Given the description of an element on the screen output the (x, y) to click on. 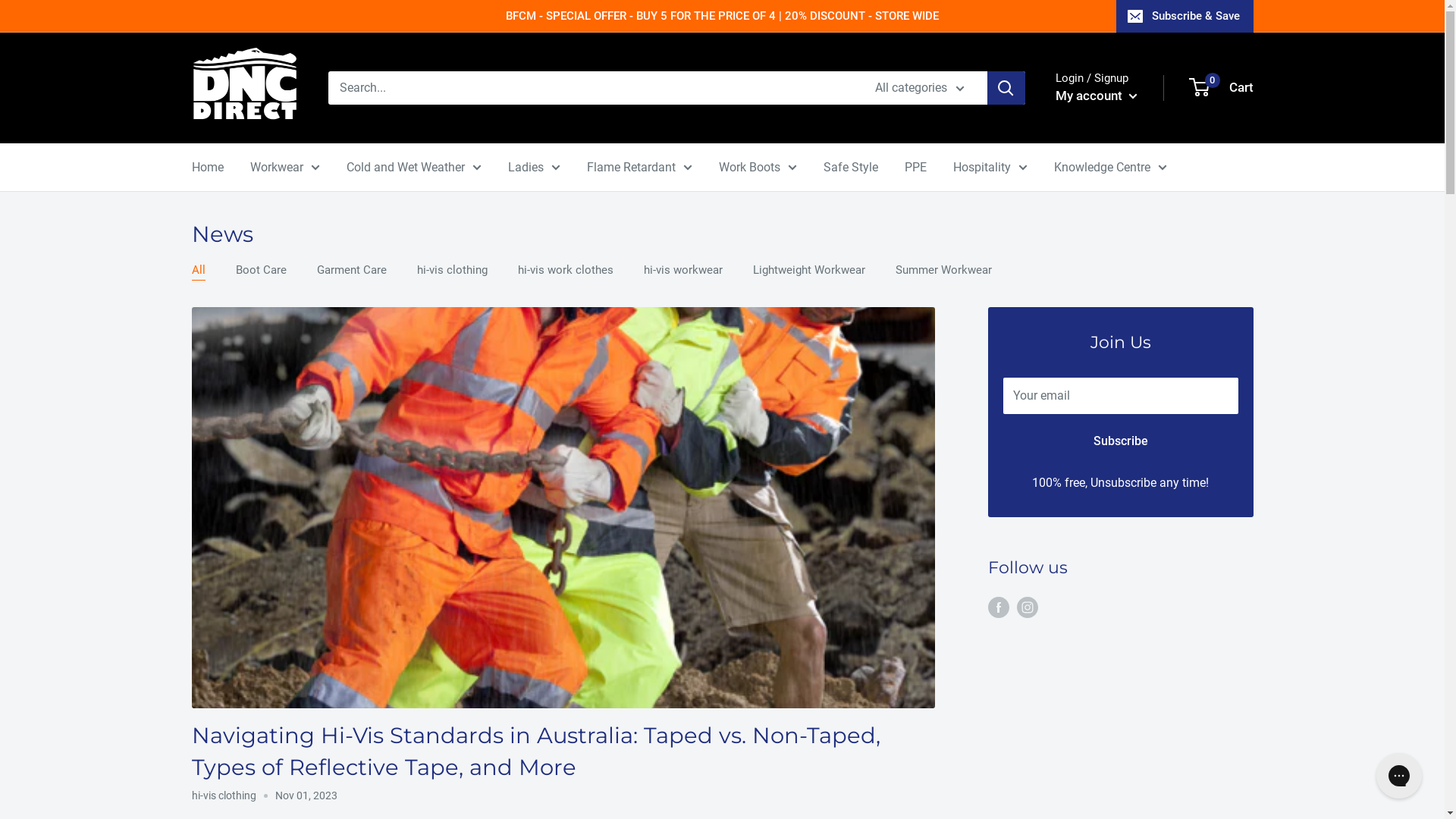
Safe Style Element type: text (850, 167)
hi-vis workwear Element type: text (682, 269)
0
Cart Element type: text (1221, 87)
Subscribe Element type: text (1119, 441)
dncdirect Element type: text (244, 87)
PPE Element type: text (914, 167)
Hospitality Element type: text (989, 167)
Cold and Wet Weather Element type: text (412, 167)
Garment Care Element type: text (351, 269)
hi-vis work clothes Element type: text (564, 269)
Subscribe & Save Element type: text (1184, 15)
Summer Workwear Element type: text (942, 269)
My account Element type: text (1096, 96)
Lightweight Workwear Element type: text (808, 269)
Ladies Element type: text (534, 167)
hi-vis clothing Element type: text (452, 269)
Gorgias live chat messenger Element type: hover (1398, 775)
Knowledge Centre Element type: text (1110, 167)
Boot Care Element type: text (260, 269)
Flame Retardant Element type: text (639, 167)
Work Boots Element type: text (757, 167)
Workwear Element type: text (285, 167)
Home Element type: text (206, 167)
All Element type: text (197, 269)
